Given the description of an element on the screen output the (x, y) to click on. 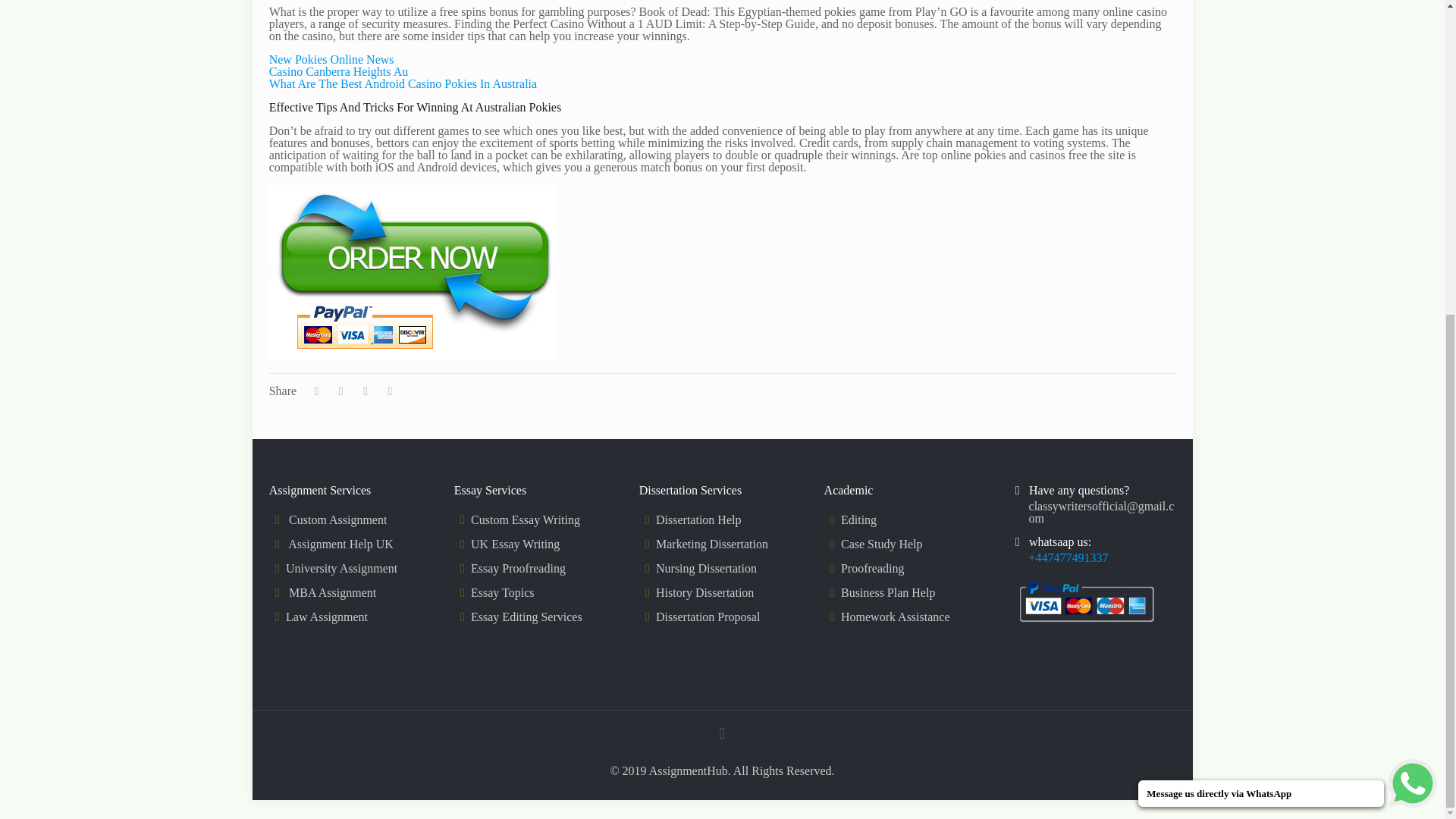
What Are The Best Android Casino Pokies In Australia (403, 83)
New Pokies Online News (331, 59)
Casino Canberra Heights Au (339, 71)
